Given the description of an element on the screen output the (x, y) to click on. 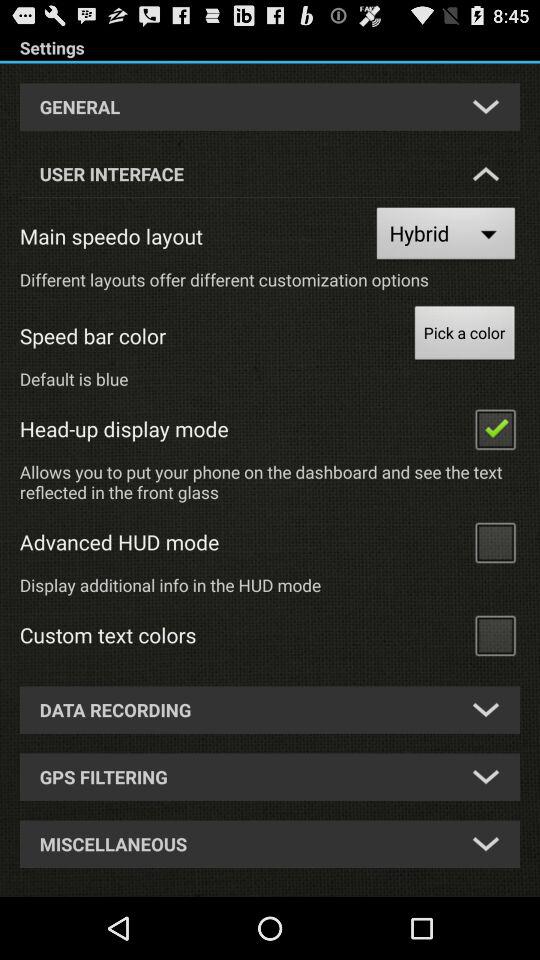
custom text colors (495, 634)
